Given the description of an element on the screen output the (x, y) to click on. 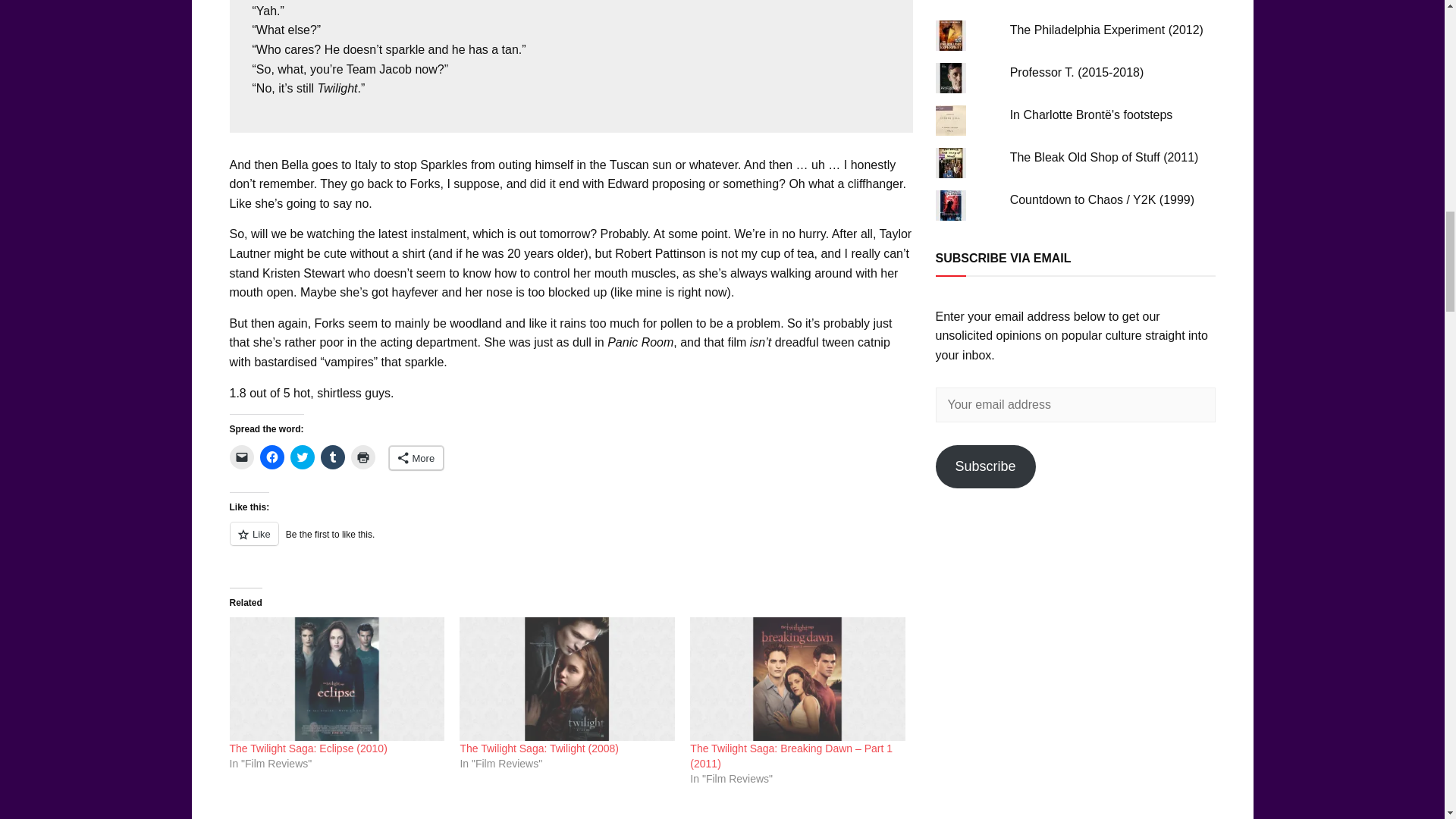
Like or Reblog (570, 542)
Click to share on Twitter (301, 457)
Click to share on Facebook (271, 457)
Click to email a link to a friend (240, 457)
Click to print (362, 457)
Click to share on Tumblr (331, 457)
